Given the description of an element on the screen output the (x, y) to click on. 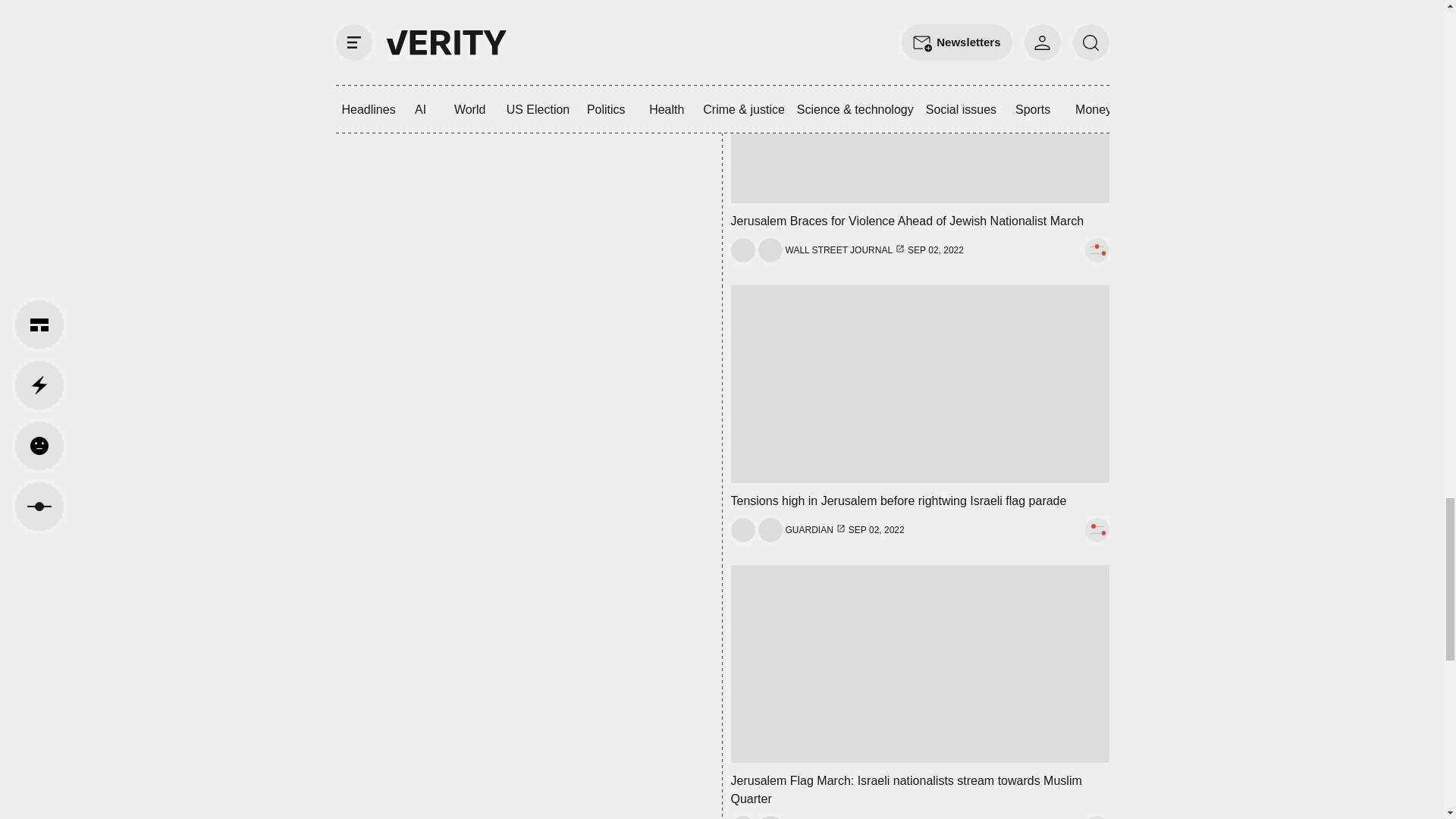
Wall Street Journal (839, 250)
